Given the description of an element on the screen output the (x, y) to click on. 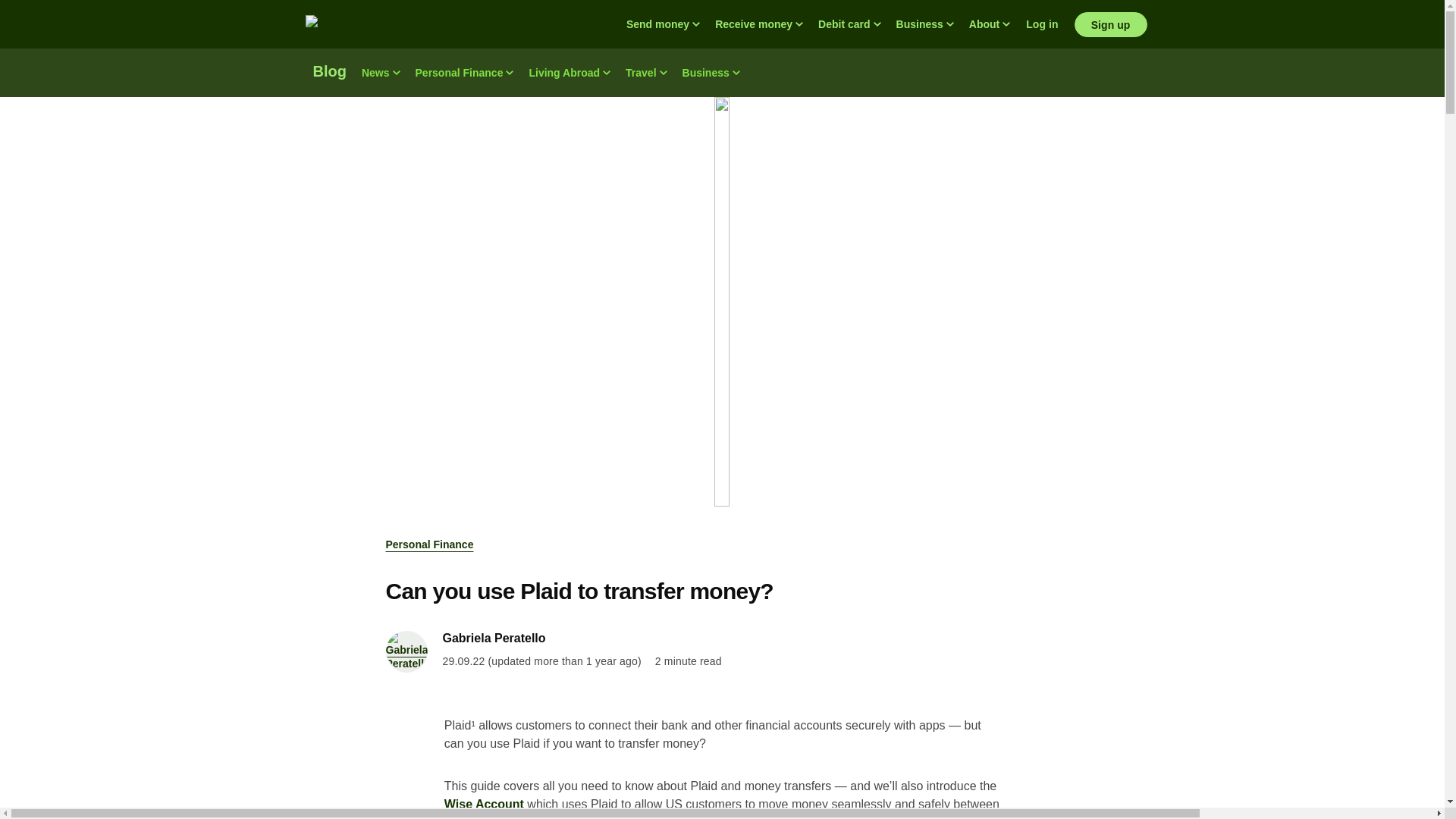
News (380, 72)
Debit card (849, 24)
Receive money (758, 24)
Business (711, 72)
Send money (662, 24)
Personal Finance (464, 72)
Living Abroad (569, 72)
Travel (645, 72)
Blog (328, 72)
